Given the description of an element on the screen output the (x, y) to click on. 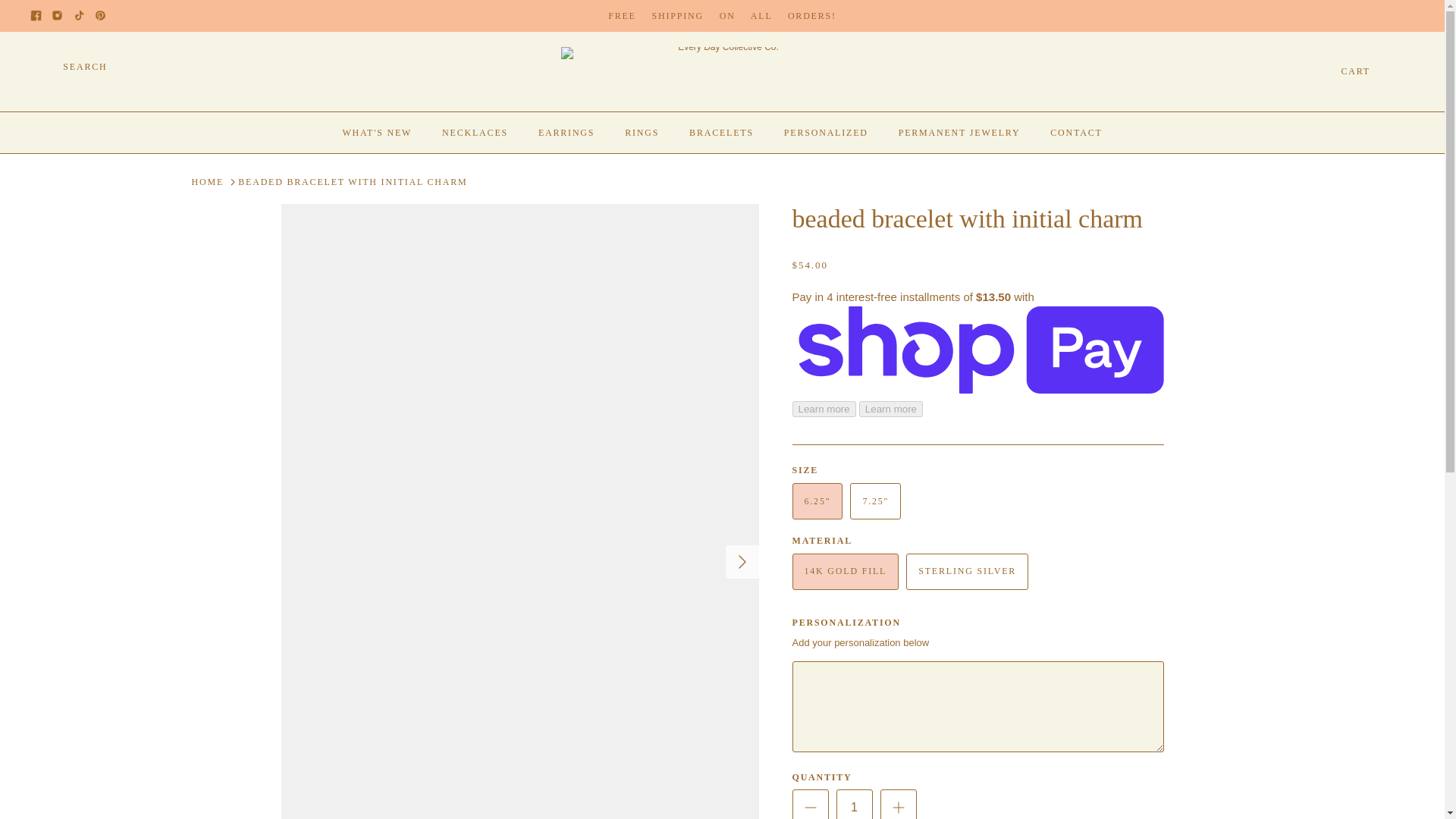
Every Day Collective Co. (721, 71)
EARRINGS (566, 132)
Minus (809, 807)
1 (853, 804)
RINGS (641, 132)
PERSONALIZED (826, 132)
RIGHT (741, 561)
PERMANENT JEWELRY (959, 132)
SEARCH (68, 71)
NECKLACES (474, 132)
CART (1376, 70)
WHAT'S NEW (377, 132)
Plus (897, 807)
BRACELETS (721, 132)
CONTACT (1075, 132)
